Given the description of an element on the screen output the (x, y) to click on. 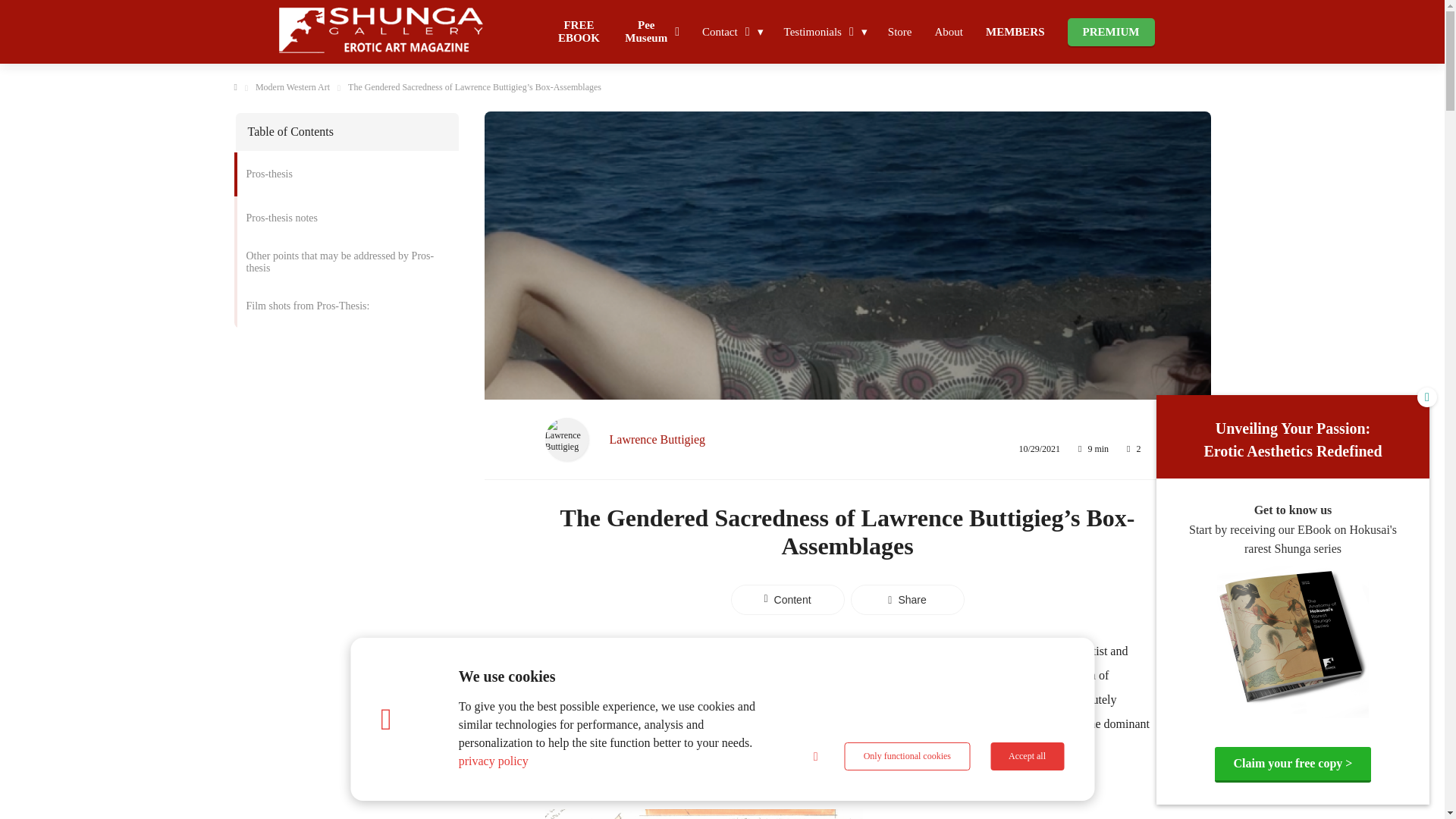
Content (787, 599)
Film shots from Pros-Thesis: (346, 306)
Share (906, 599)
Other points that may be addressed by Pros-thesis (346, 262)
PREMIUM (1110, 30)
About (948, 30)
Drawing prosthesis (703, 814)
Pros-thesis (346, 174)
FREE EBOOK (579, 24)
2 (1134, 448)
Pee Museum (651, 24)
Lawrence Buttigieg (658, 438)
Store (899, 30)
MEMBERS (1015, 30)
